Given the description of an element on the screen output the (x, y) to click on. 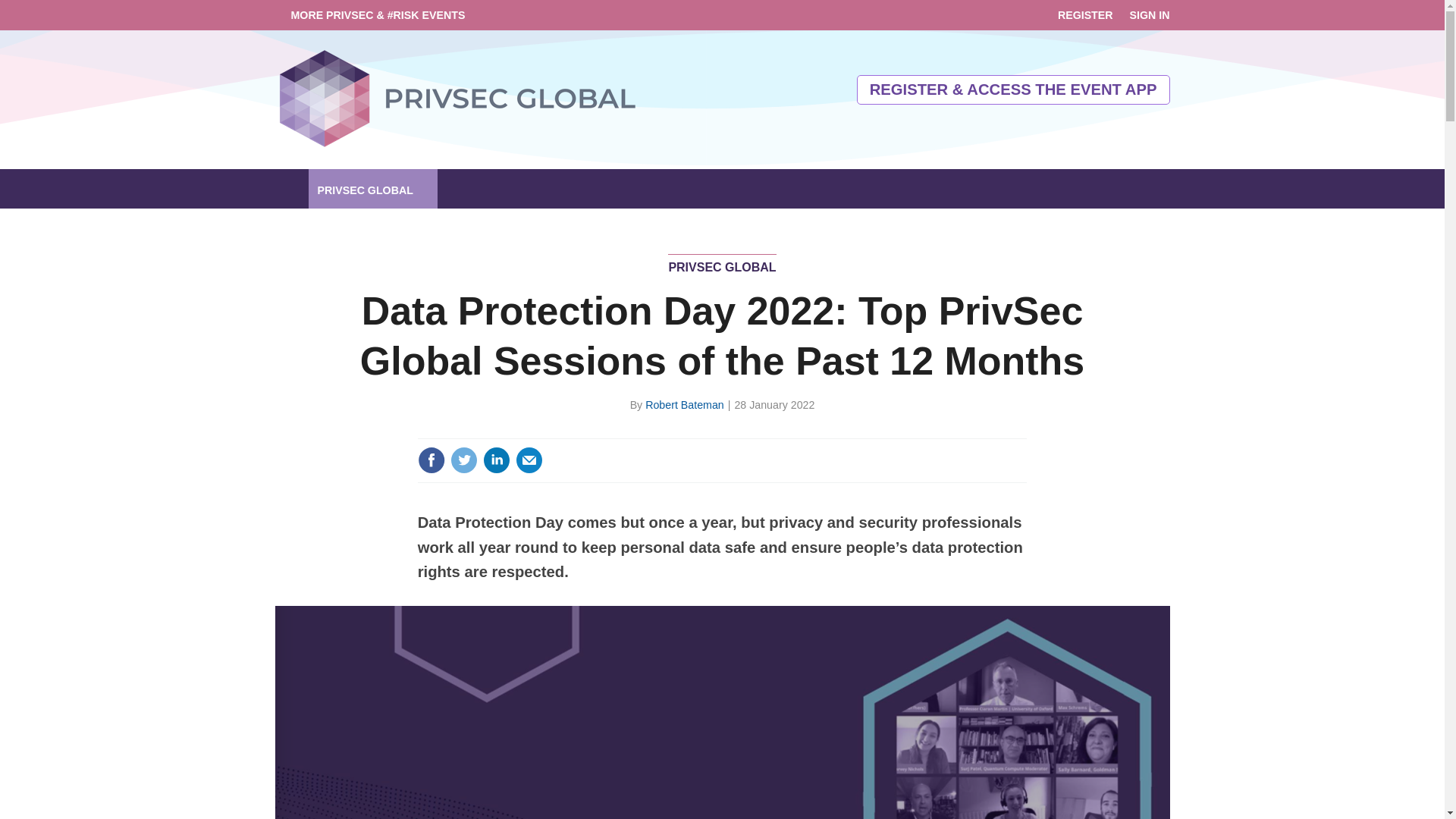
No comments (1003, 468)
Email this article (529, 459)
Share this on Twitter (463, 459)
REGISTER (1085, 15)
Robert Bateman (684, 404)
PRIVSEC GLOBAL (371, 188)
Share this on Facebook (431, 459)
PRIVSEC GLOBAL (722, 269)
SIGN IN (1149, 15)
Share this on Linked in (497, 459)
